Given the description of an element on the screen output the (x, y) to click on. 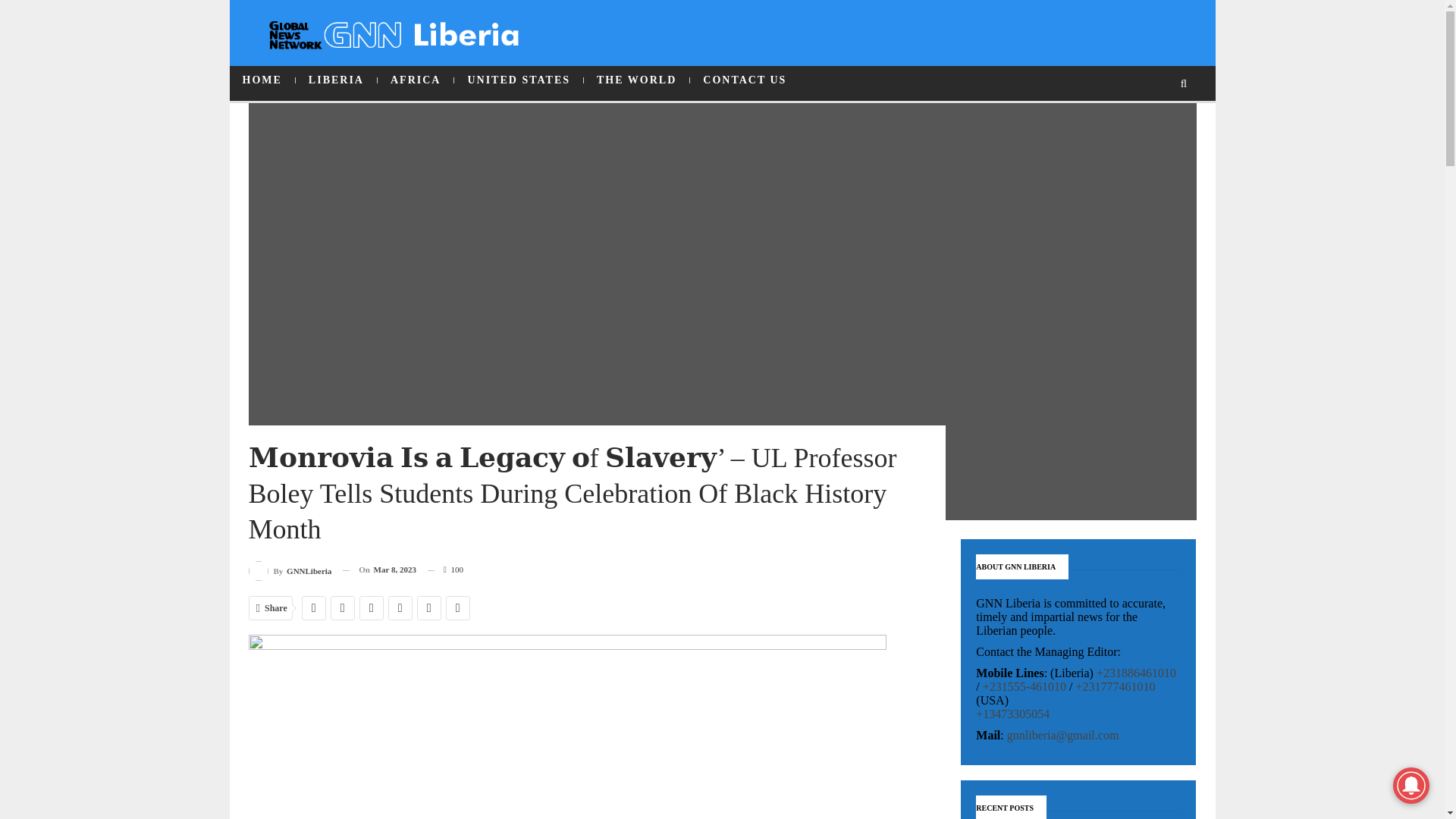
LIBERIA (336, 80)
By GNNLiberia (289, 569)
AFRICA (414, 80)
Browse Author Articles (289, 569)
CONTACT US (744, 80)
THE WORLD (635, 80)
HOME (261, 80)
UNITED STATES (518, 80)
